Given the description of an element on the screen output the (x, y) to click on. 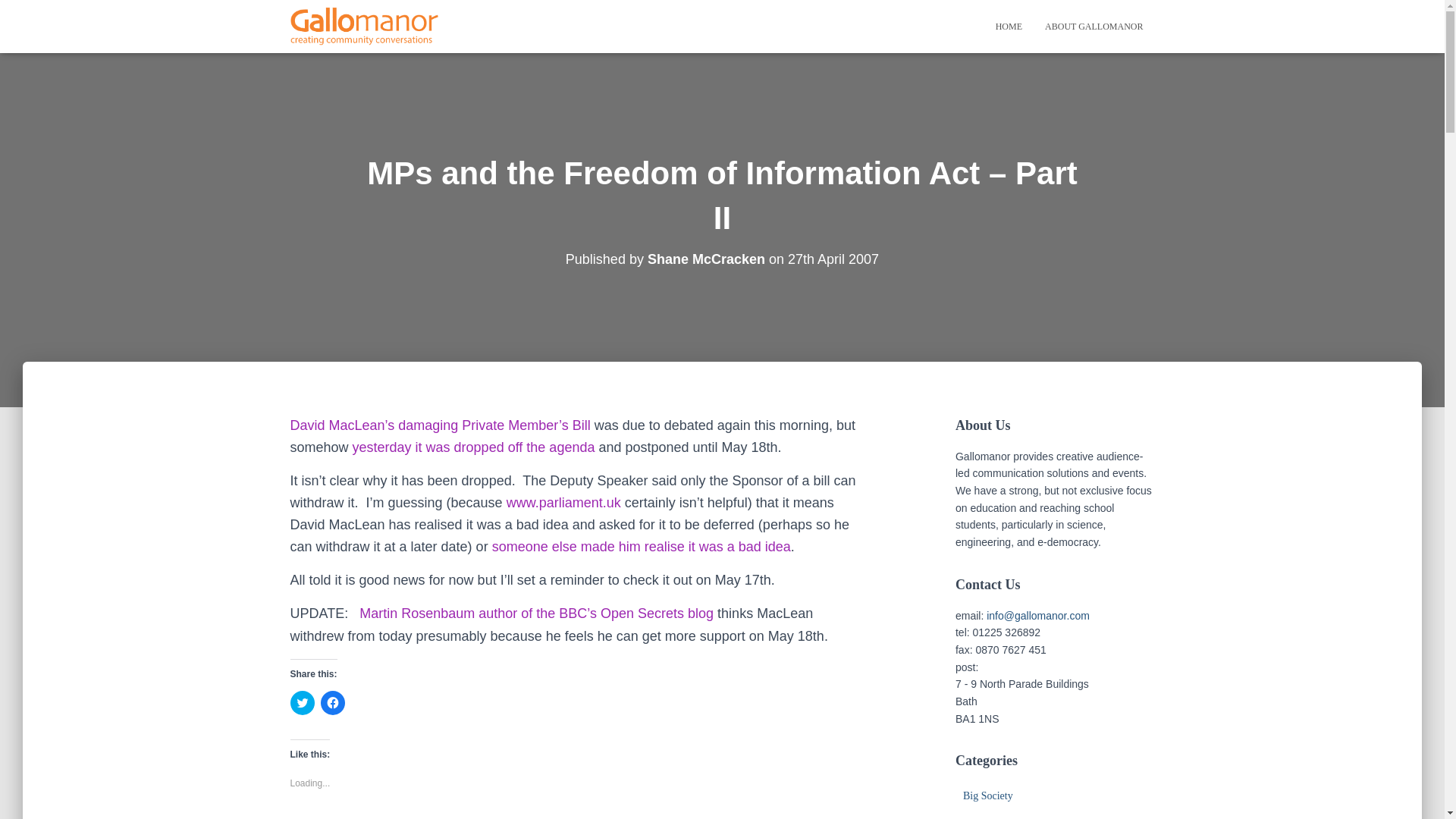
www.parliament.uk (563, 502)
Big Society (987, 795)
Click to share on Twitter (301, 702)
About Gallomanor (1093, 26)
Gallomanor (364, 26)
yesterday it was dropped off the agenda (473, 447)
Shane McCracken (706, 258)
ABOUT GALLOMANOR (1093, 26)
someone else made him realise it was a bad idea (641, 546)
HOME (1008, 26)
Click to share on Facebook (331, 702)
Home (1008, 26)
